Given the description of an element on the screen output the (x, y) to click on. 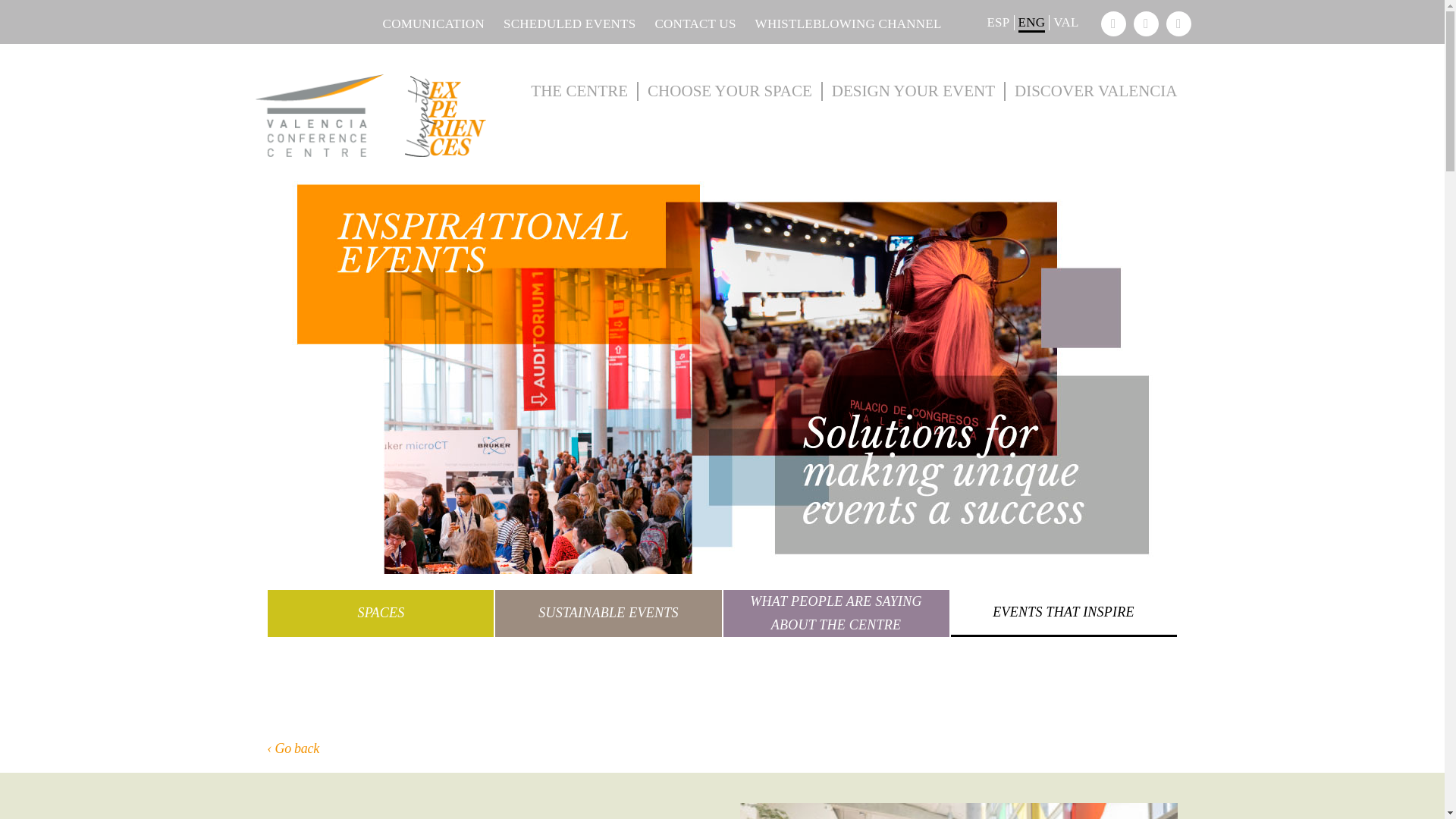
DISCOVER VALENCIA (1091, 90)
ESP (997, 22)
VAL (1066, 22)
COMUNICATION (424, 23)
CHOOSE YOUR SPACE (730, 90)
WHAT PEOPLE ARE SAYING ABOUT THE CENTRE (836, 613)
WHISTLEBLOWING CHANNEL (839, 23)
ENG (1031, 22)
EVENTS THAT INSPIRE (1063, 613)
Go back (292, 748)
SCHEDULED EVENTS (560, 23)
ESP (997, 22)
SPACES (380, 613)
SUSTAINABLE EVENTS (607, 613)
CONTACT US (684, 23)
